Given the description of an element on the screen output the (x, y) to click on. 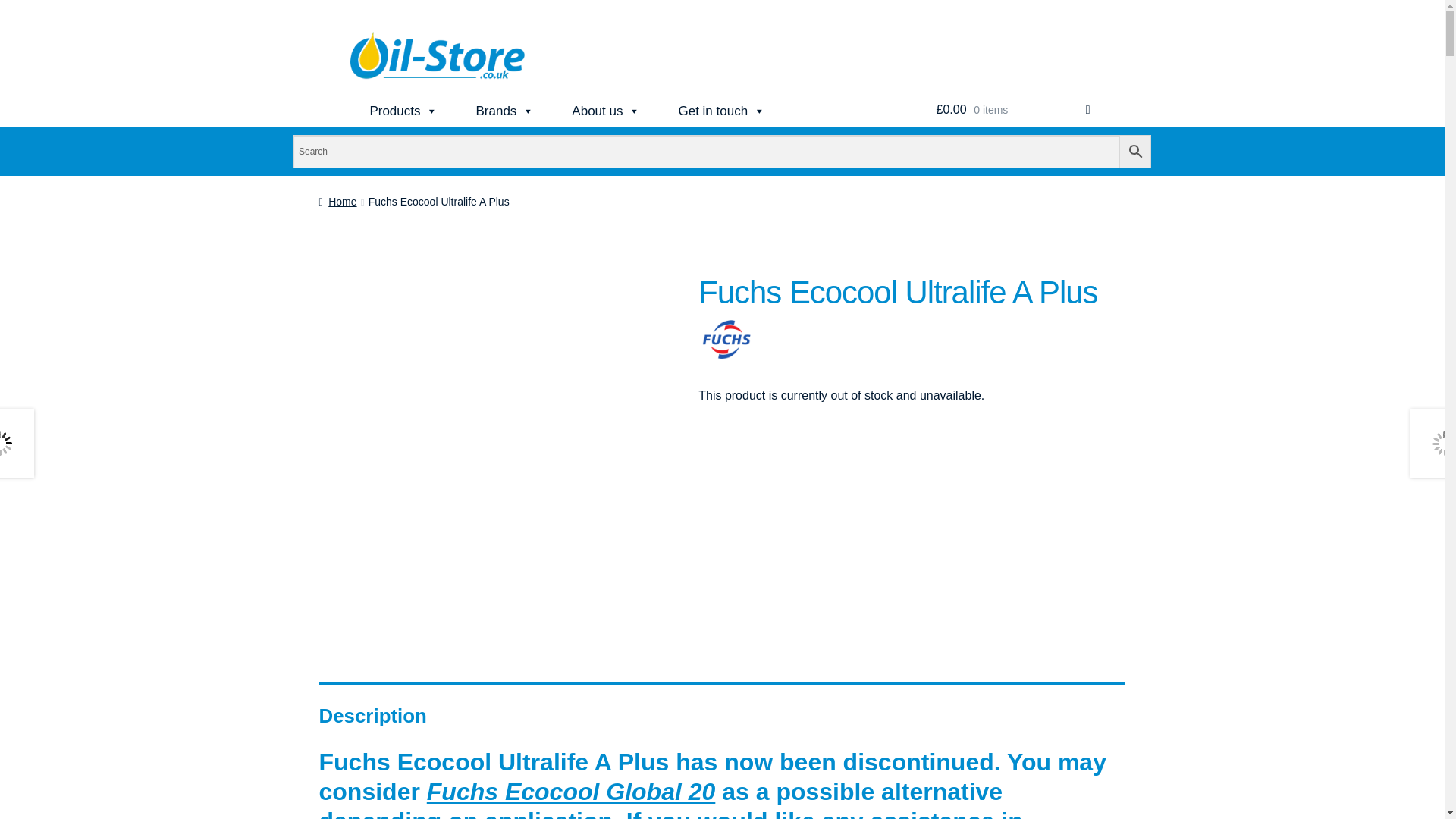
View your shopping basket (1013, 109)
Products (403, 111)
